Given the description of an element on the screen output the (x, y) to click on. 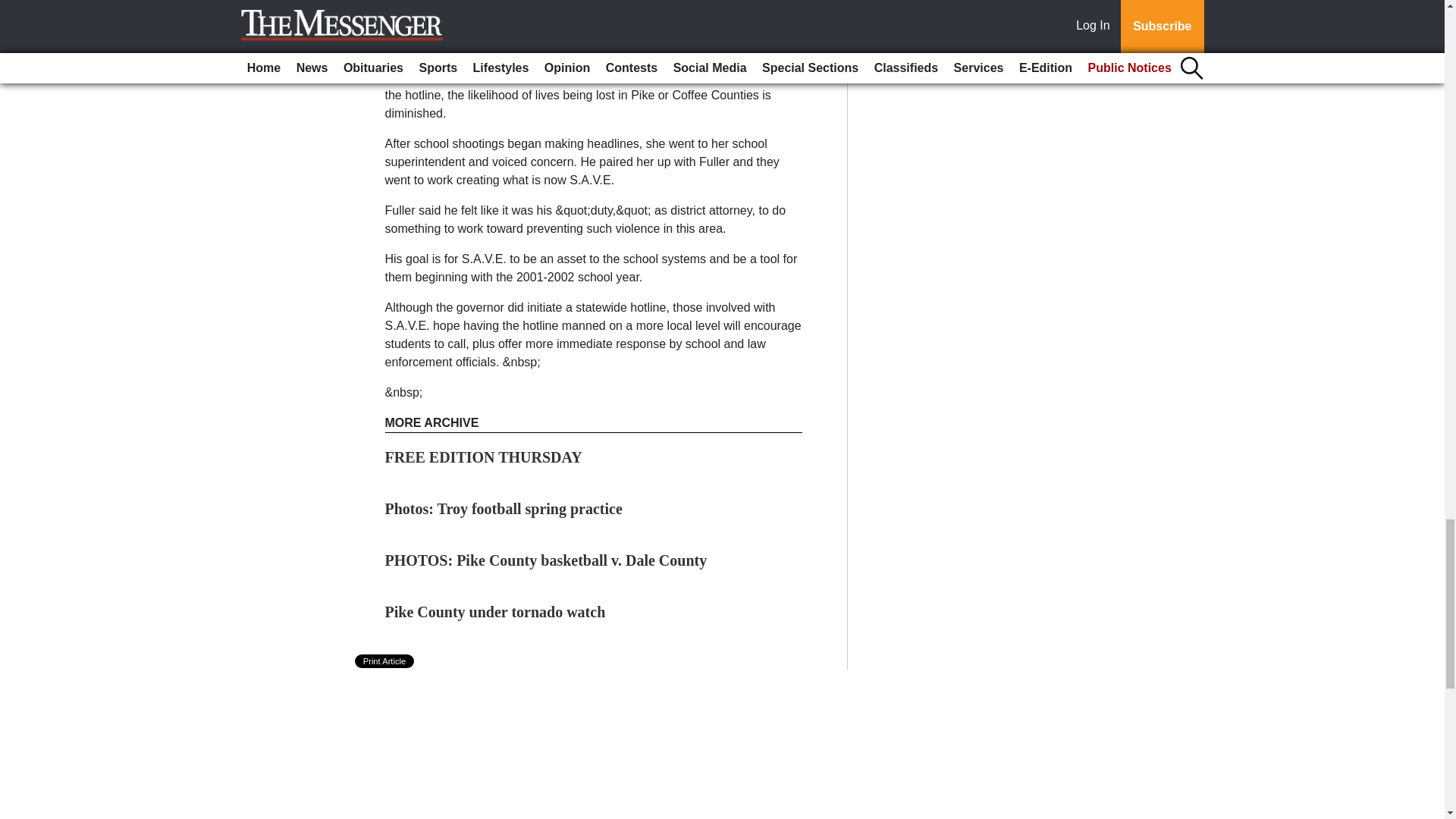
Pike County under tornado watch (495, 611)
Photos: Troy football spring practice (504, 508)
PHOTOS: Pike County basketball v. Dale County (546, 560)
FREE EDITION THURSDAY (483, 457)
